Given the description of an element on the screen output the (x, y) to click on. 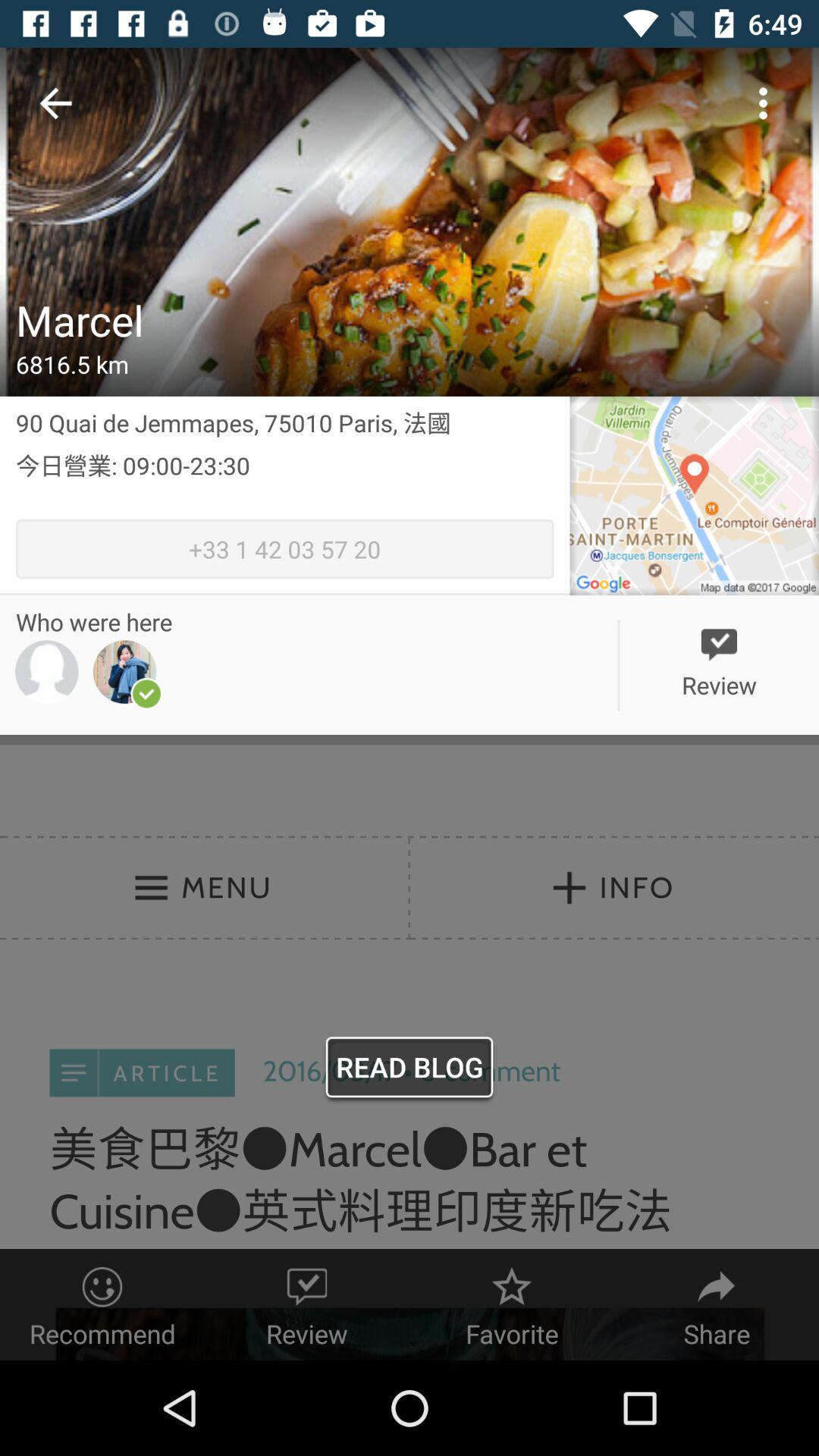
scroll until 90 quai de item (284, 422)
